Given the description of an element on the screen output the (x, y) to click on. 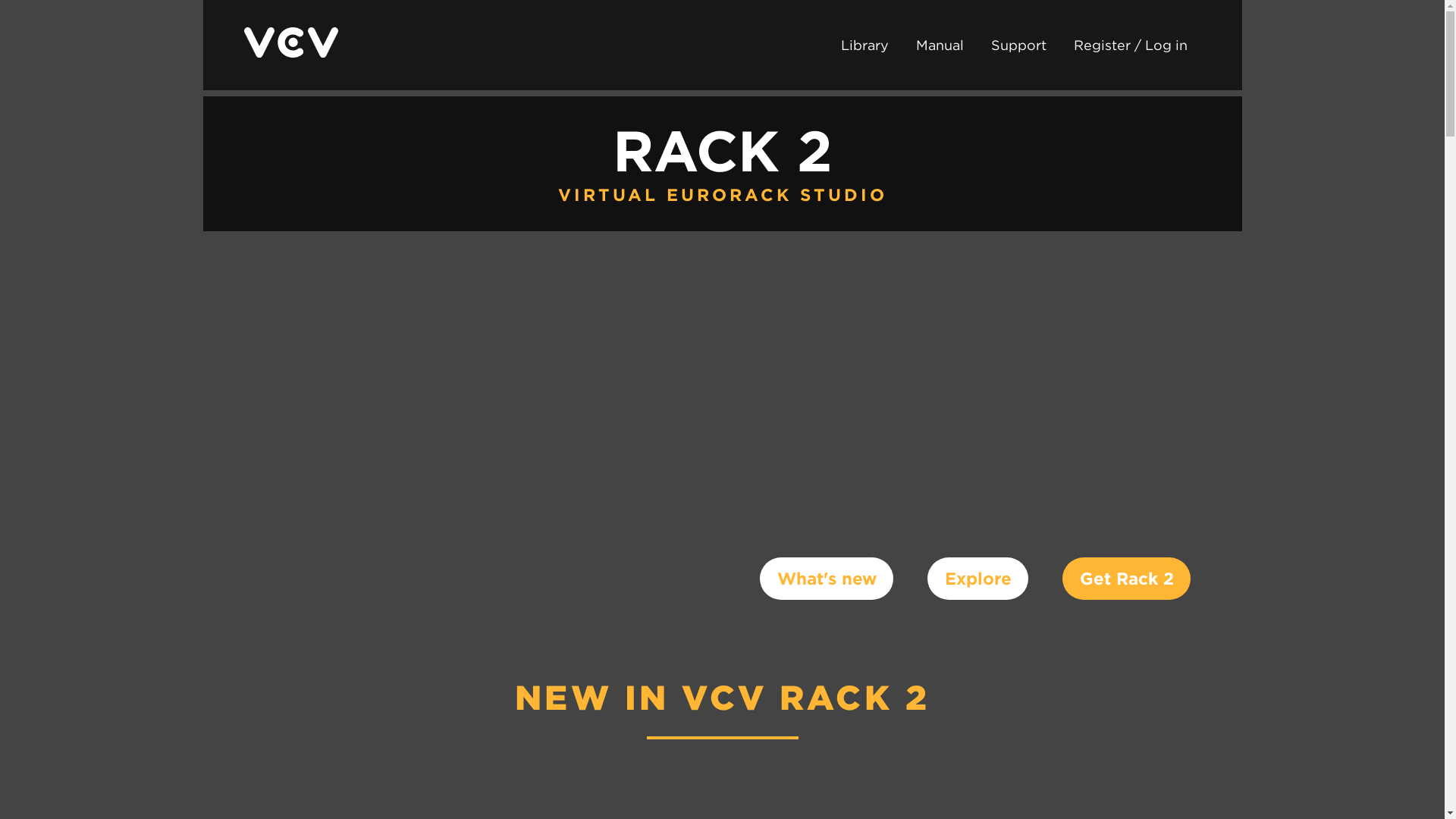
Library (864, 44)
Get Rack 2 (1126, 578)
Manual (939, 44)
Explore (977, 578)
What's new (826, 578)
Support (1017, 44)
